Given the description of an element on the screen output the (x, y) to click on. 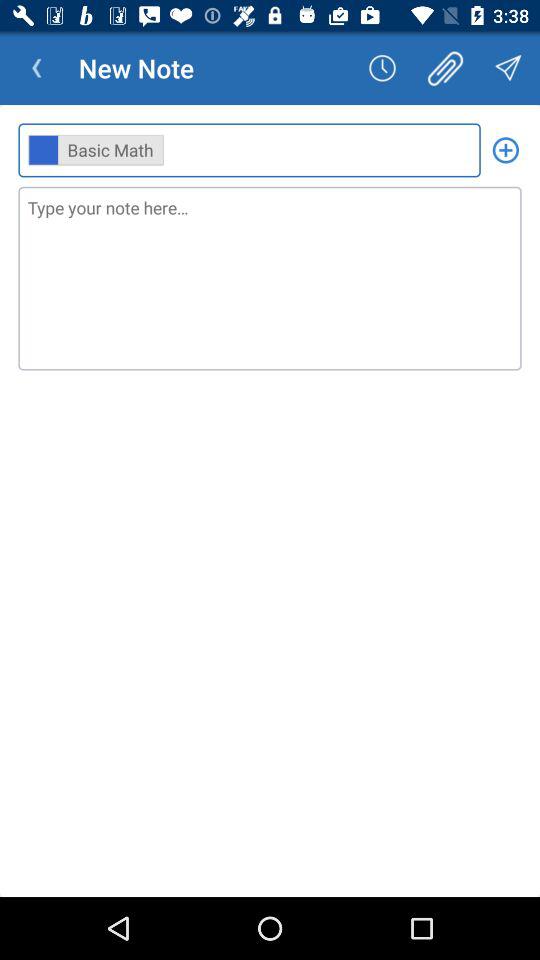
select the icon next to ,, (505, 150)
